Given the description of an element on the screen output the (x, y) to click on. 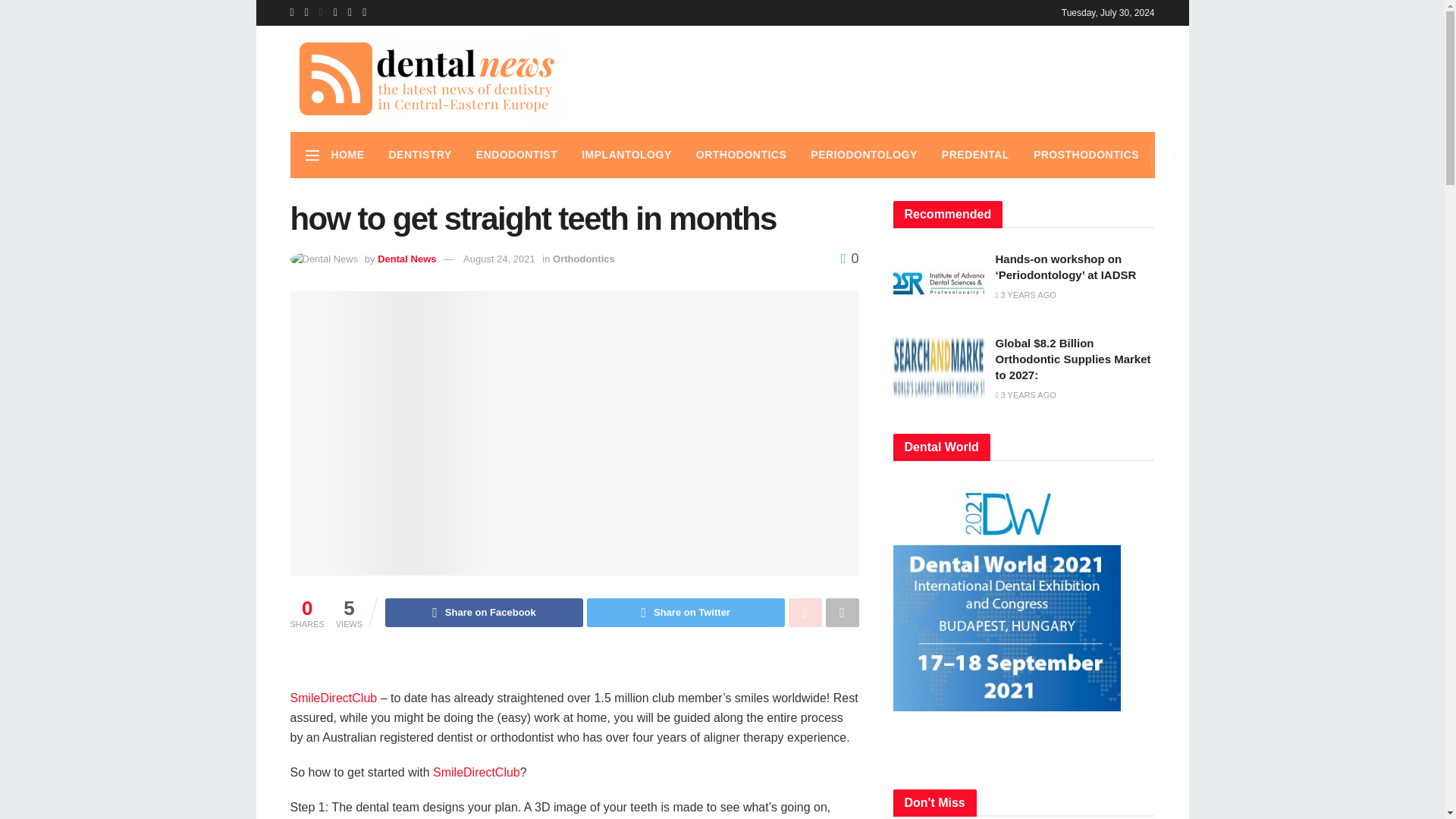
DENTISTRY (419, 154)
PROSTHODONTICS (1086, 154)
IMPLANTOLOGY (626, 154)
ORTHODONTICS (741, 154)
PREDENTAL (976, 154)
August 24, 2021 (499, 258)
HOME (346, 154)
PERIODONTOLOGY (863, 154)
ENDODONTIST (516, 154)
Orthodontics (583, 258)
Dental News (406, 258)
